Given the description of an element on the screen output the (x, y) to click on. 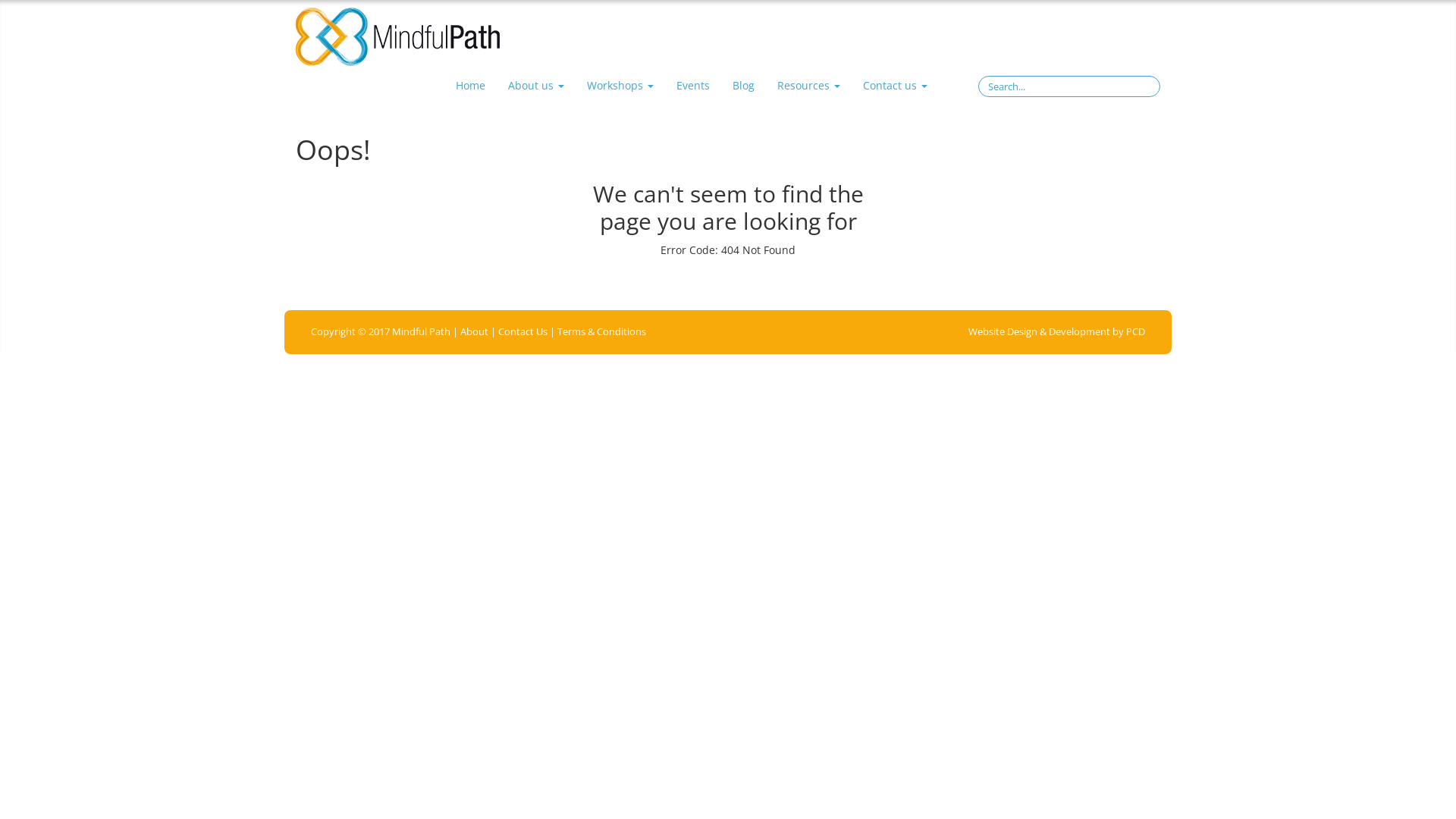
Website Design & Development by PCD Element type: text (1056, 331)
About Element type: text (474, 331)
Contact us Element type: text (894, 85)
Events Element type: text (692, 85)
Resources Element type: text (808, 85)
Workshops Element type: text (619, 85)
Blog Element type: text (742, 85)
MindfulPath Element type: hover (397, 36)
About us Element type: text (534, 85)
Contact Us Element type: text (522, 331)
Home Element type: text (470, 85)
Terms & Conditions Element type: text (601, 331)
